Given the description of an element on the screen output the (x, y) to click on. 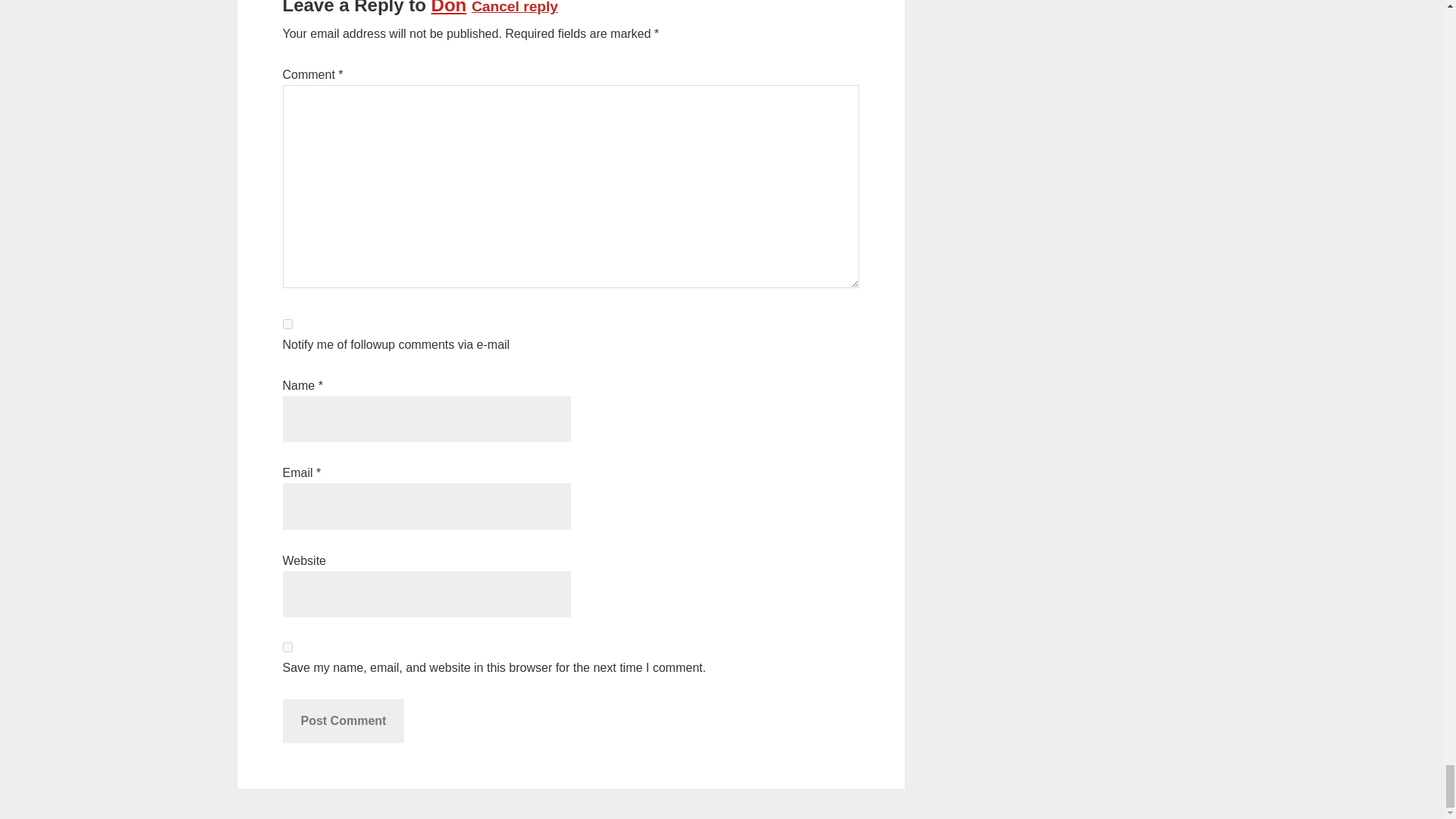
yes (287, 646)
Post Comment (343, 720)
subscribe (287, 324)
